Given the description of an element on the screen output the (x, y) to click on. 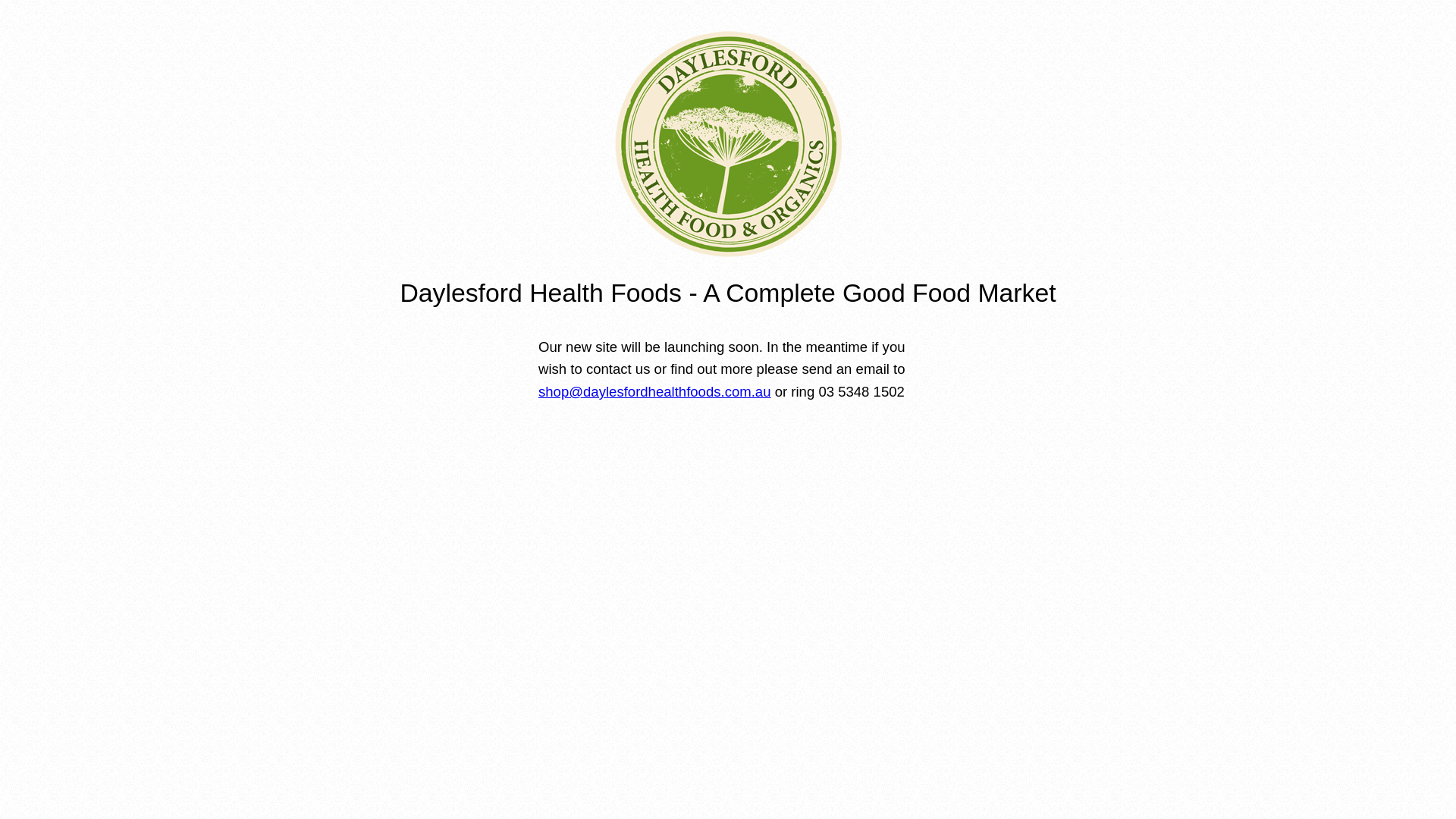
shop@daylesfordhealthfoods.com.au Element type: text (654, 391)
